Given the description of an element on the screen output the (x, y) to click on. 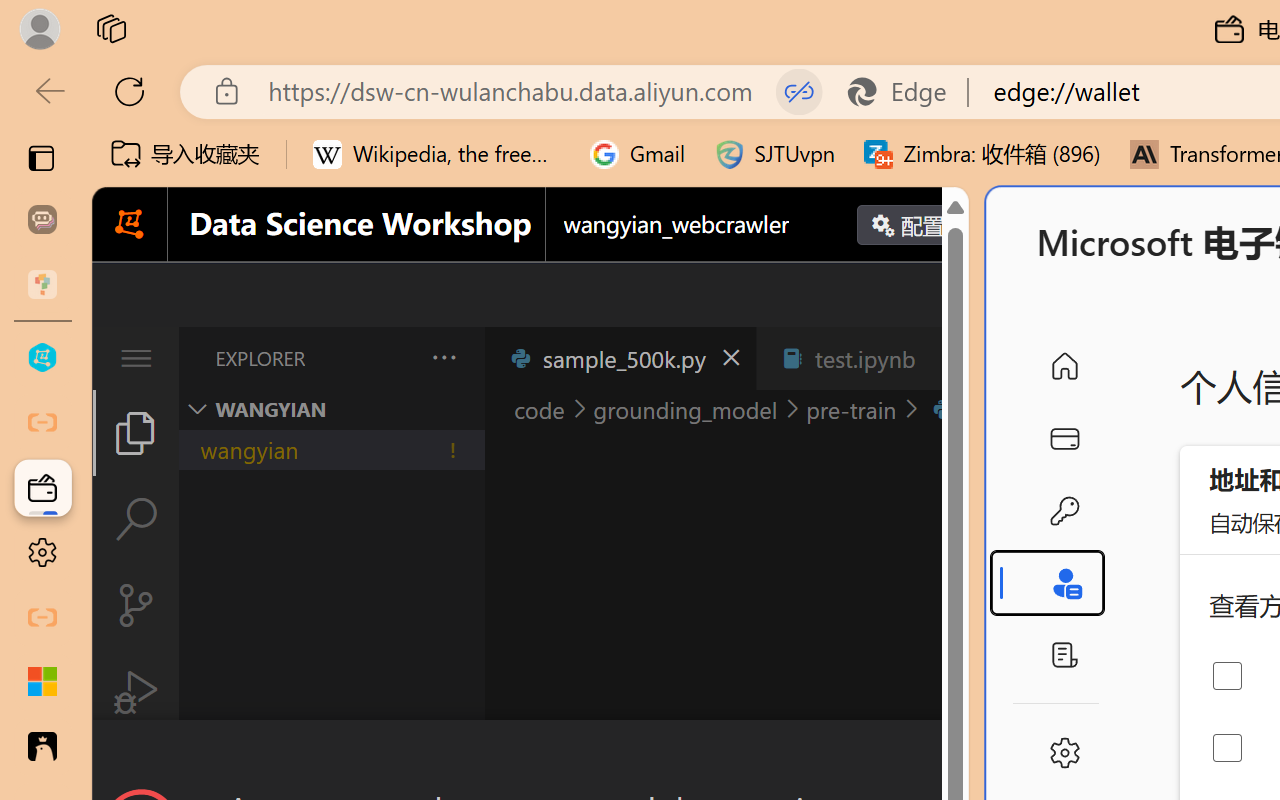
Search (Ctrl+Shift+F) (135, 519)
sample_500k.py (619, 358)
Class: menubar compact overflow-menu-only (135, 358)
Close (Ctrl+F4) (946, 358)
